Given the description of an element on the screen output the (x, y) to click on. 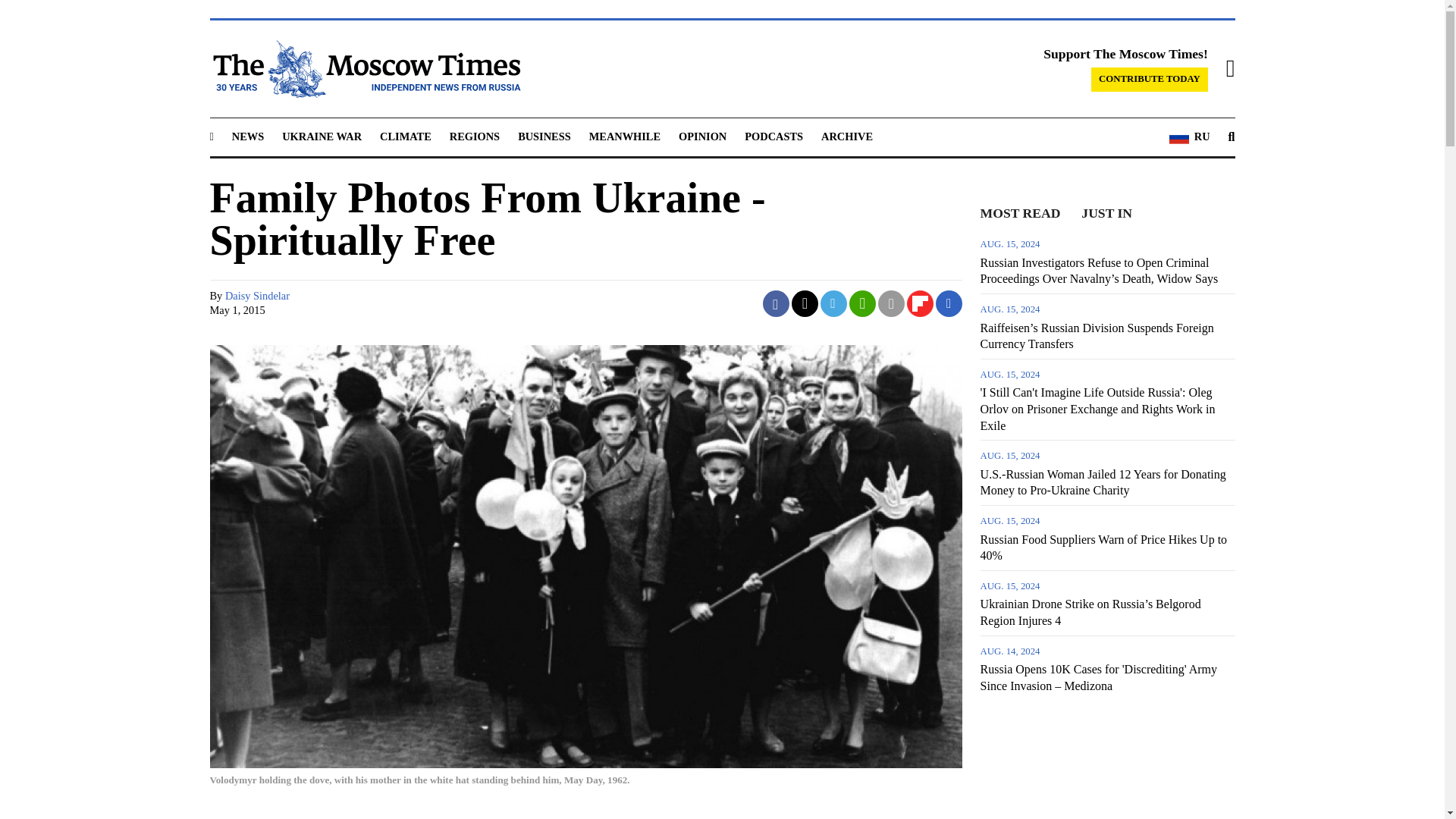
REGIONS (474, 136)
MEANWHILE (625, 136)
Share on Telegram (834, 303)
ARCHIVE (846, 136)
UKRAINE WAR (321, 136)
Share on Twitter (805, 303)
Share on Flipboard (920, 303)
CLIMATE (405, 136)
BUSINESS (544, 136)
Share on Facebook (775, 303)
